Given the description of an element on the screen output the (x, y) to click on. 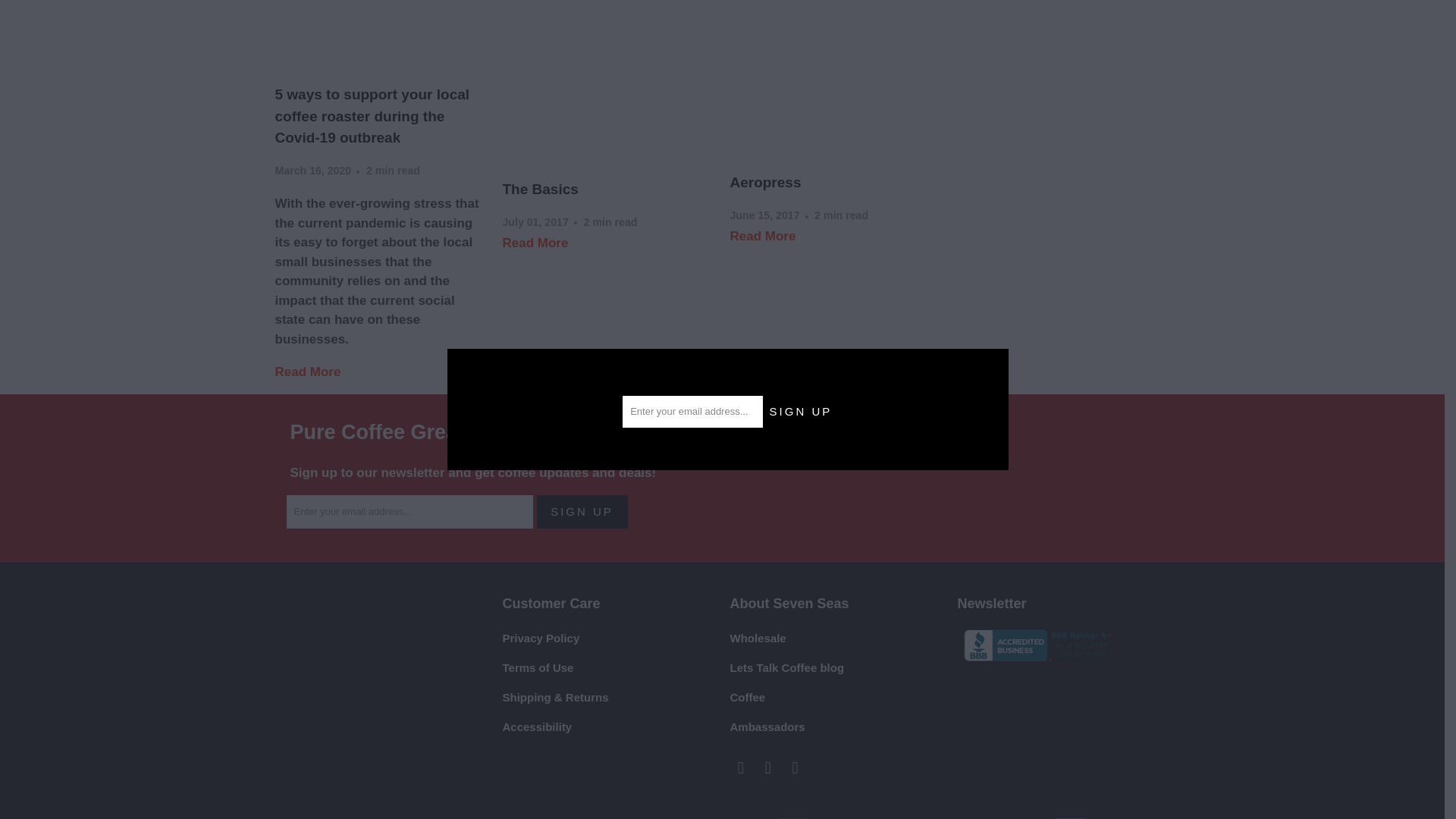
American Express (756, 818)
Shop Pay (1072, 818)
Discover (874, 818)
Diners Club (834, 818)
Apple Pay (795, 818)
Venmo (1111, 818)
Google Pay (954, 818)
PayPal (1032, 818)
Visa (1150, 818)
Meta Pay (913, 818)
